Given the description of an element on the screen output the (x, y) to click on. 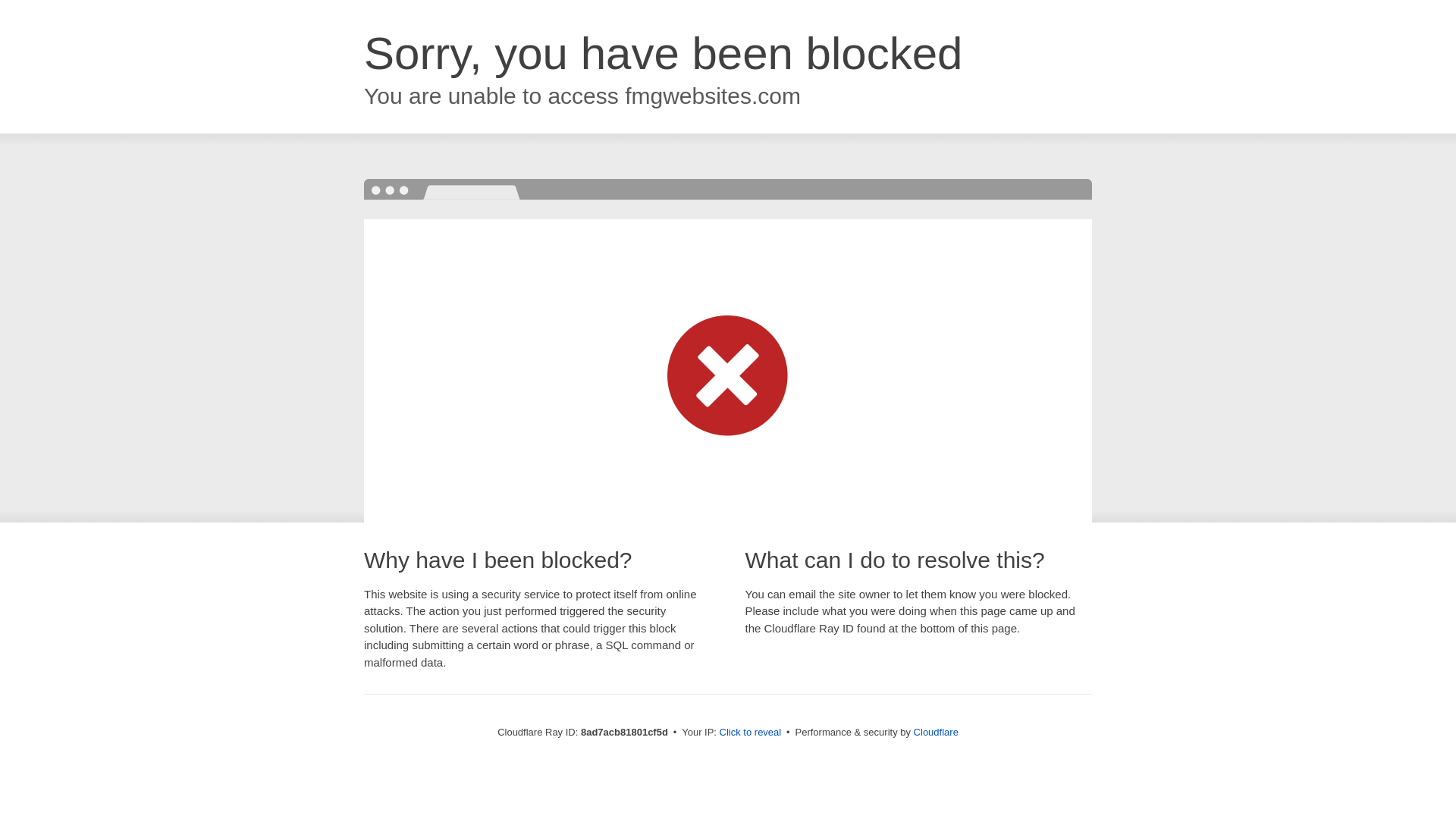
Click to reveal (750, 732)
Cloudflare (936, 731)
